Given the description of an element on the screen output the (x, y) to click on. 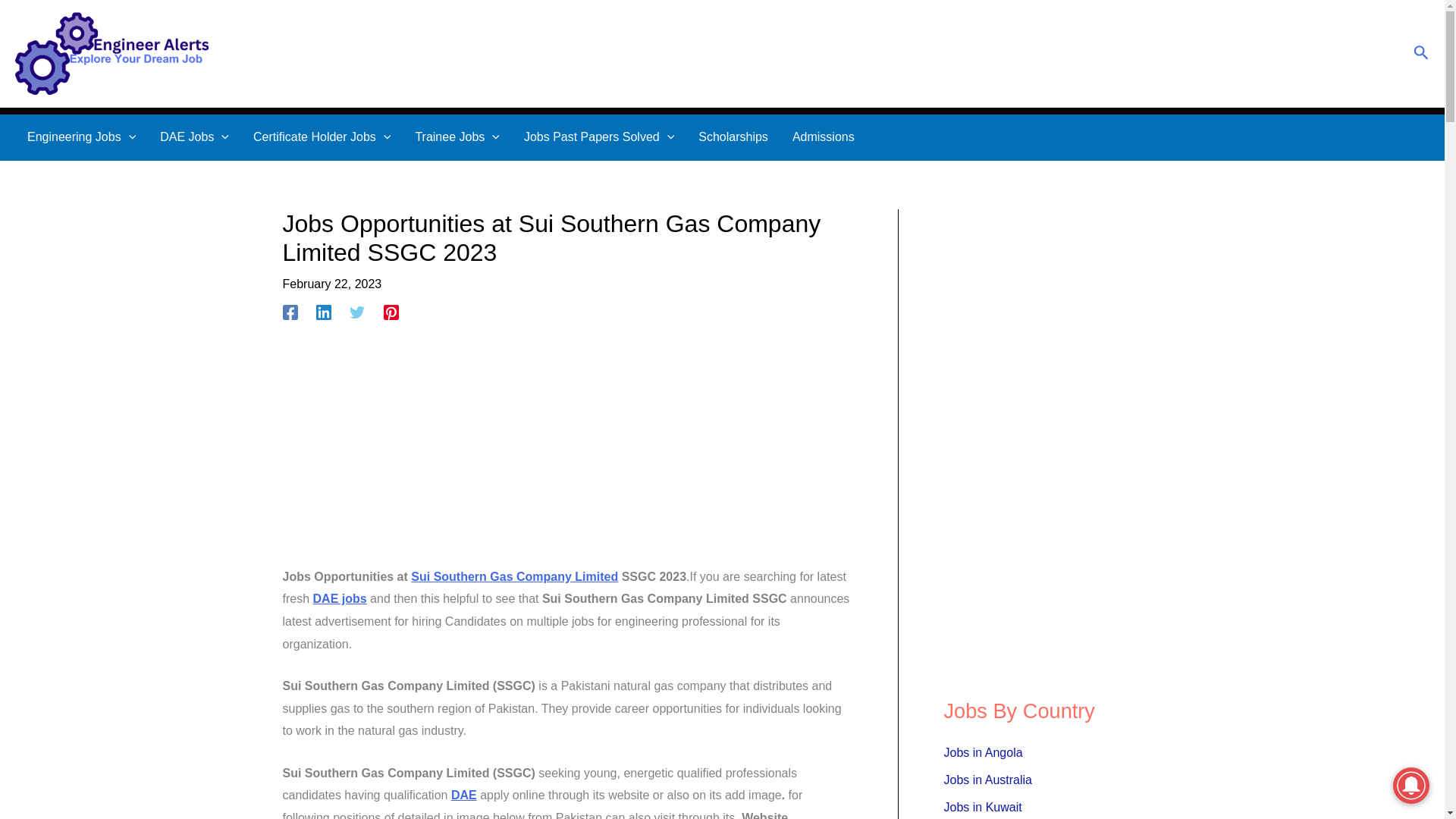
Engineering Jobs (81, 136)
Advertisement (566, 453)
Certificate Holder Jobs (322, 136)
DAE Jobs (194, 136)
